Given the description of an element on the screen output the (x, y) to click on. 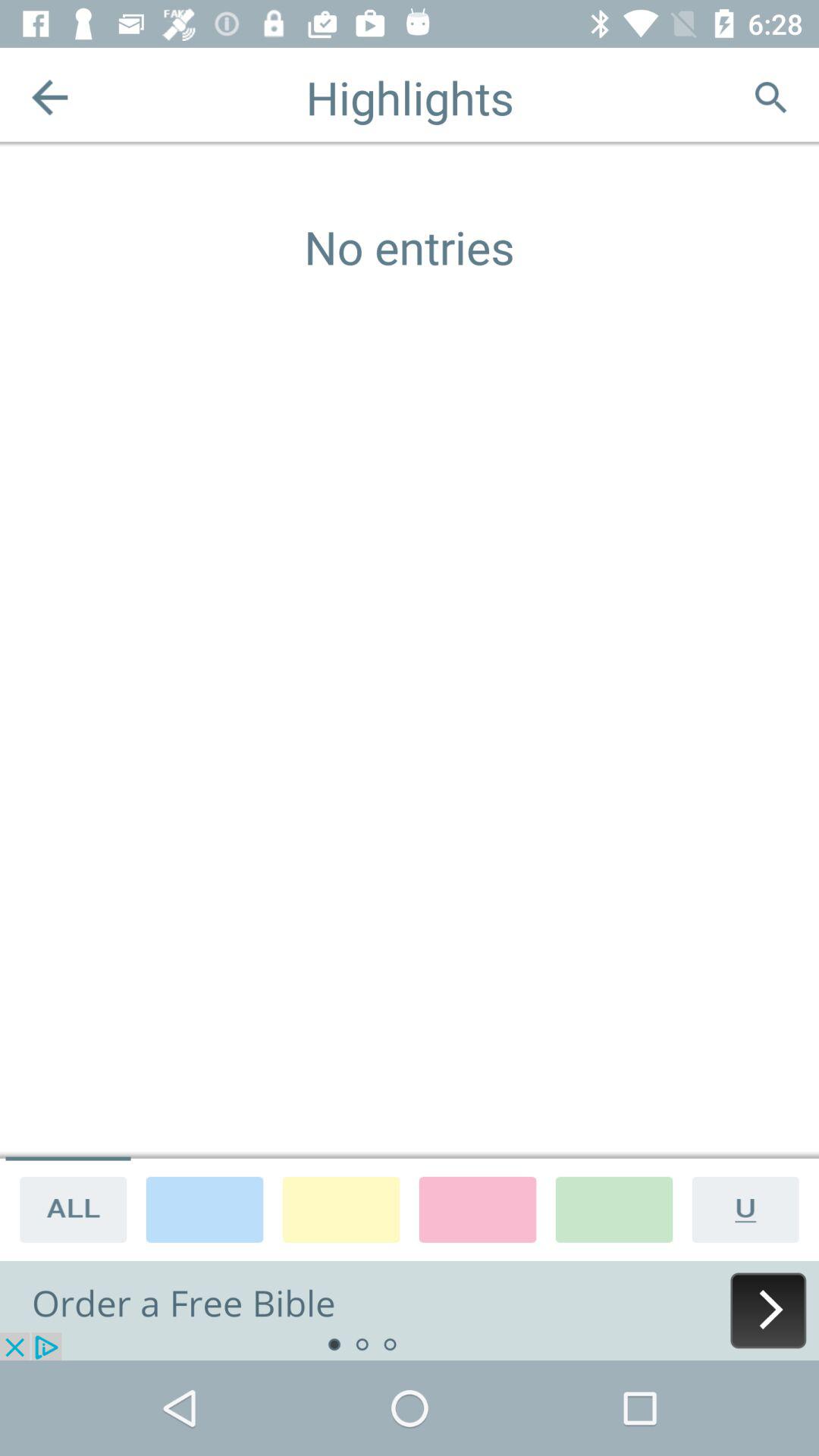
select blue theme (204, 1208)
